Given the description of an element on the screen output the (x, y) to click on. 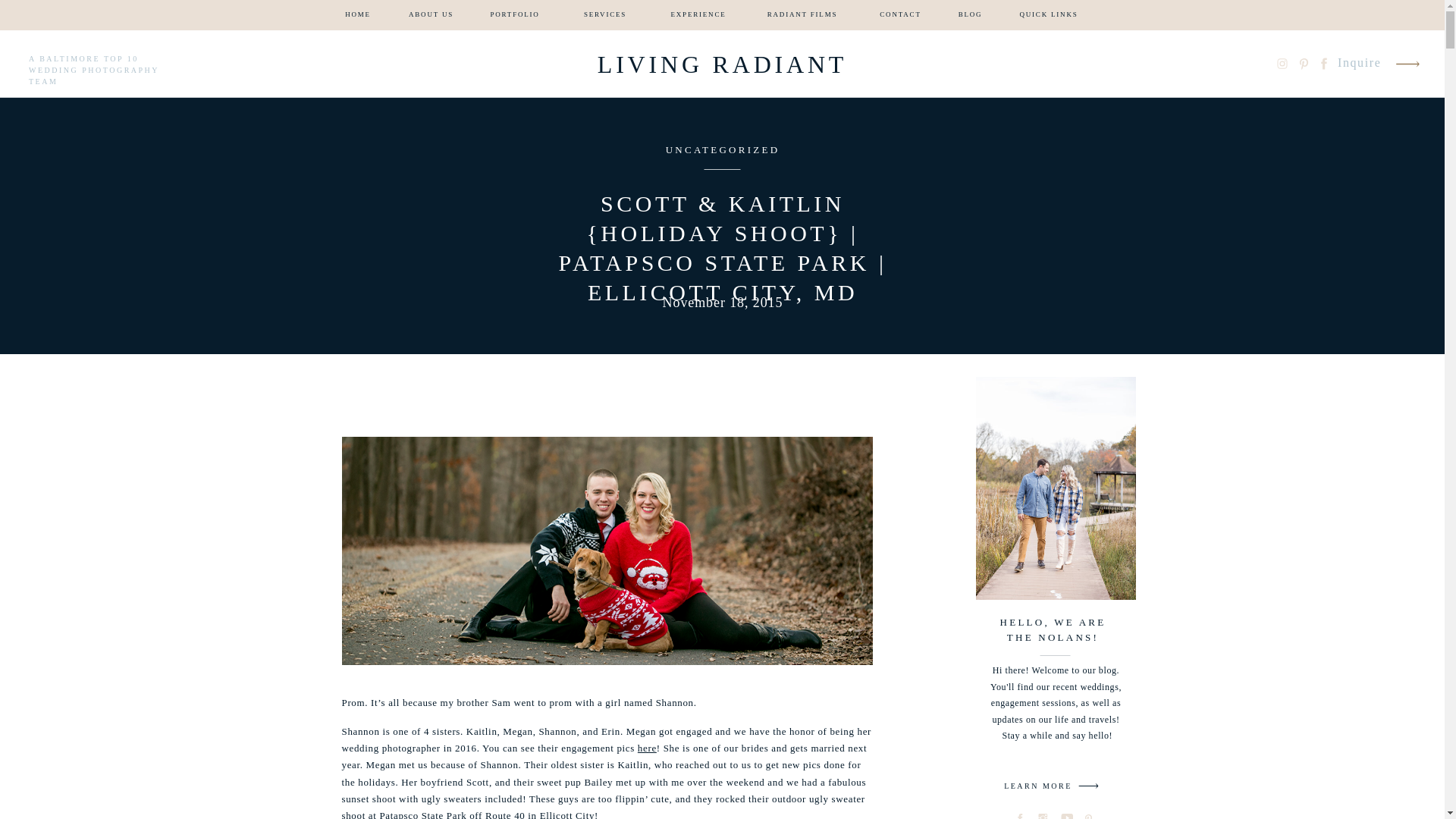
EXPERIENCE (697, 15)
HOME (357, 15)
QUICK LINKS (1048, 15)
LEARN MORE (1037, 787)
SERVICES (605, 15)
arrow (1088, 785)
arrow (1407, 63)
arrow (1407, 63)
LIVING RADIANT PHOTOGRAPHY (721, 64)
BLOG (970, 15)
PORTFOLIO (513, 15)
arrow (1088, 785)
UNCATEGORIZED (722, 149)
RADIANT FILMS (802, 15)
Inquire  (1360, 64)
